Given the description of an element on the screen output the (x, y) to click on. 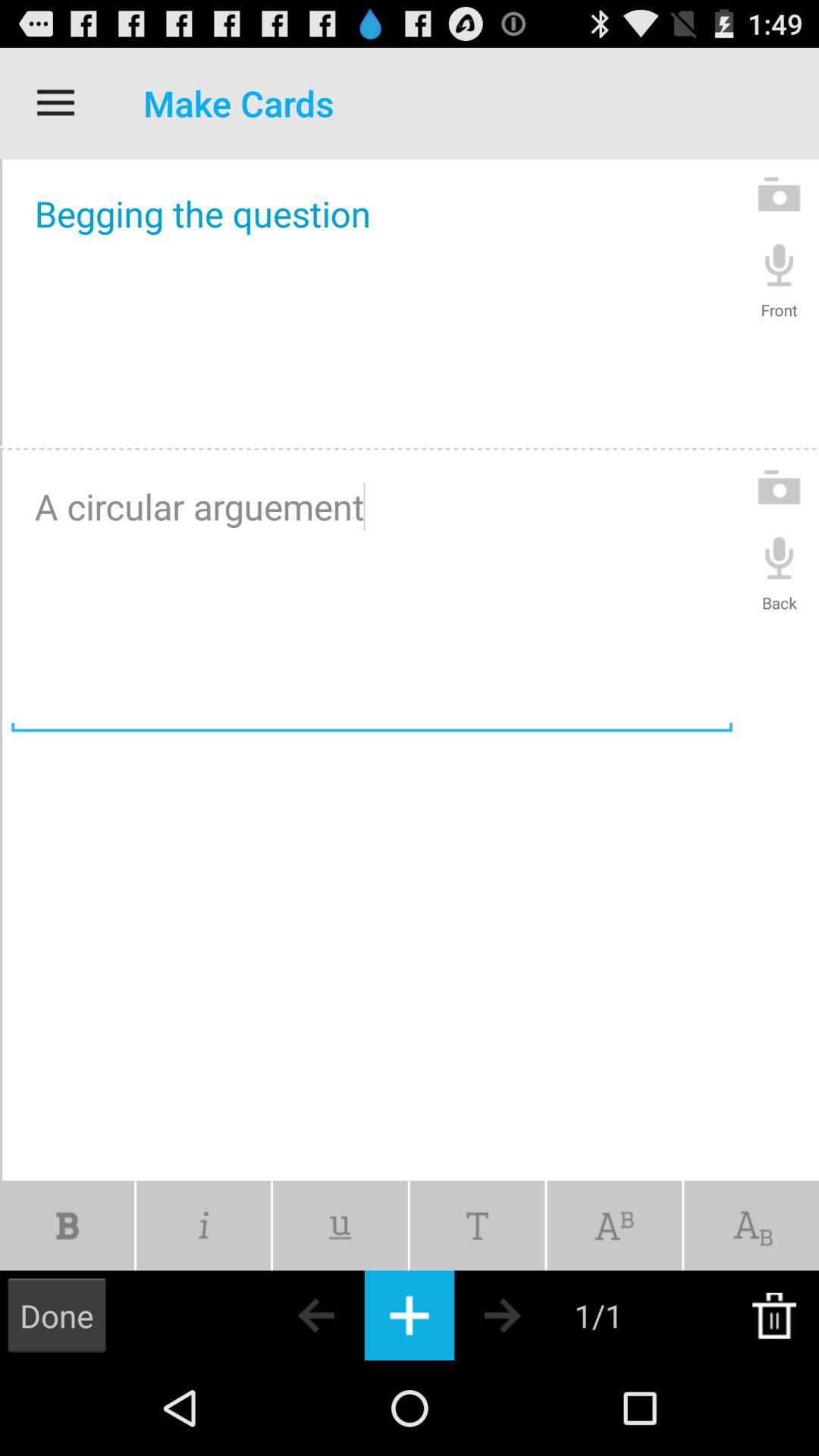
select text (477, 1225)
